Given the description of an element on the screen output the (x, y) to click on. 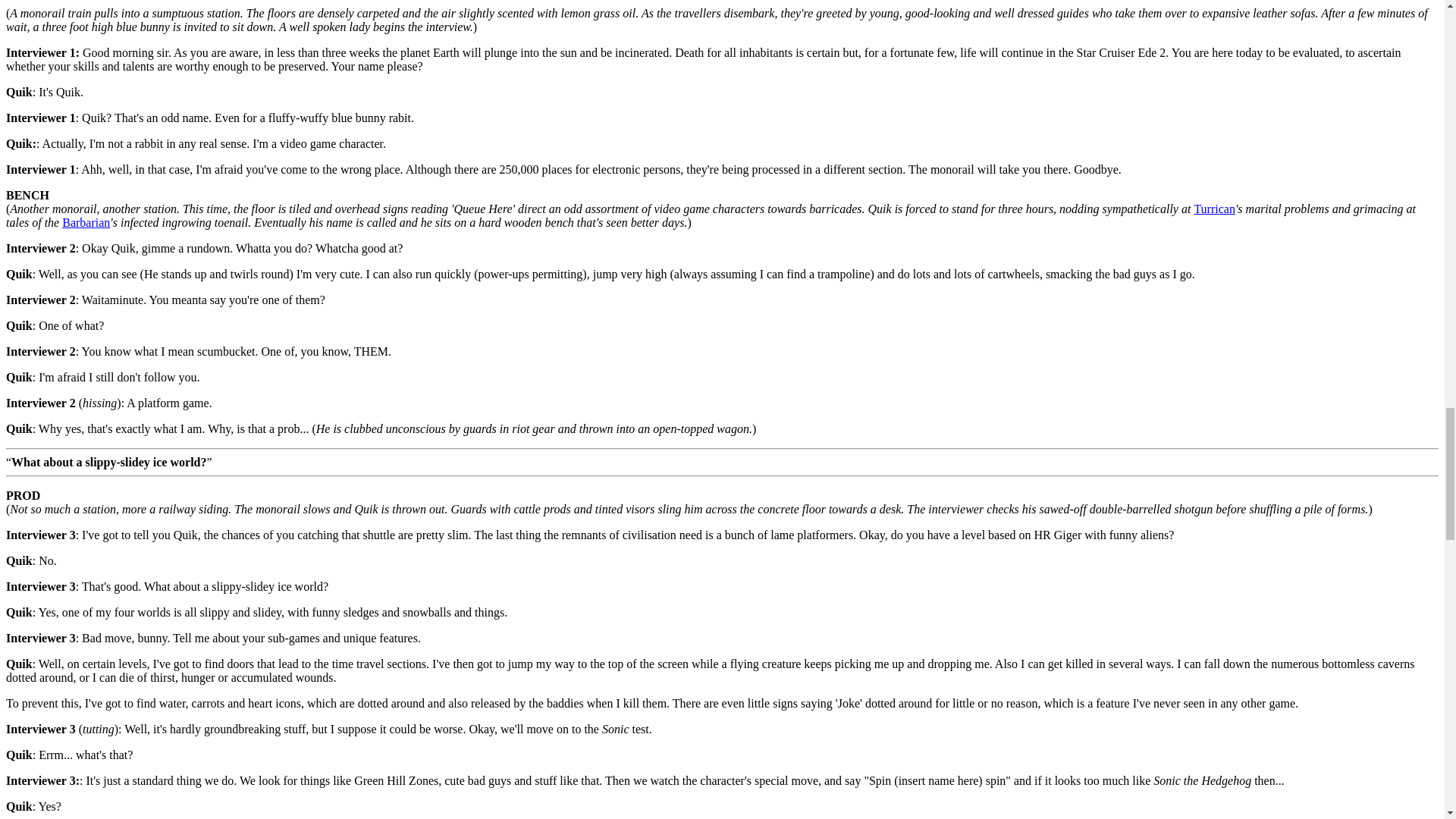
Turrican (1213, 208)
Barbarian (86, 222)
